Given the description of an element on the screen output the (x, y) to click on. 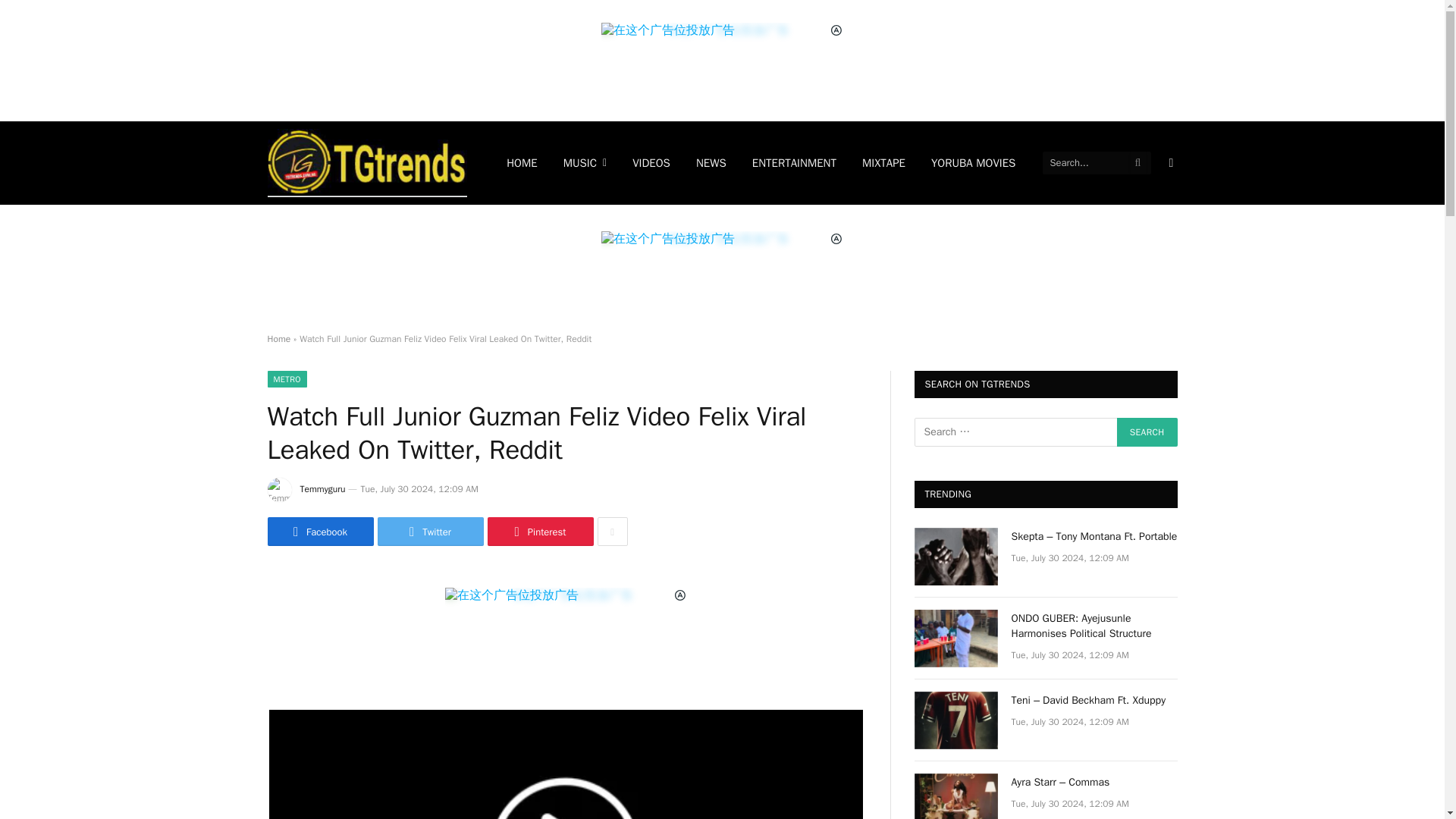
TGtrends (366, 162)
Pinterest (539, 531)
ENTERTAINMENT (793, 162)
YORUBA MOVIES (973, 162)
Share on Facebook (319, 531)
Facebook (319, 531)
Home (277, 338)
Share on Pinterest (539, 531)
Posts by Temmyguru (322, 489)
Twitter (430, 531)
Search (1146, 431)
METRO (285, 379)
Search (1146, 431)
Temmyguru (322, 489)
Switch to Dark Design - easier on eyes. (1169, 162)
